Given the description of an element on the screen output the (x, y) to click on. 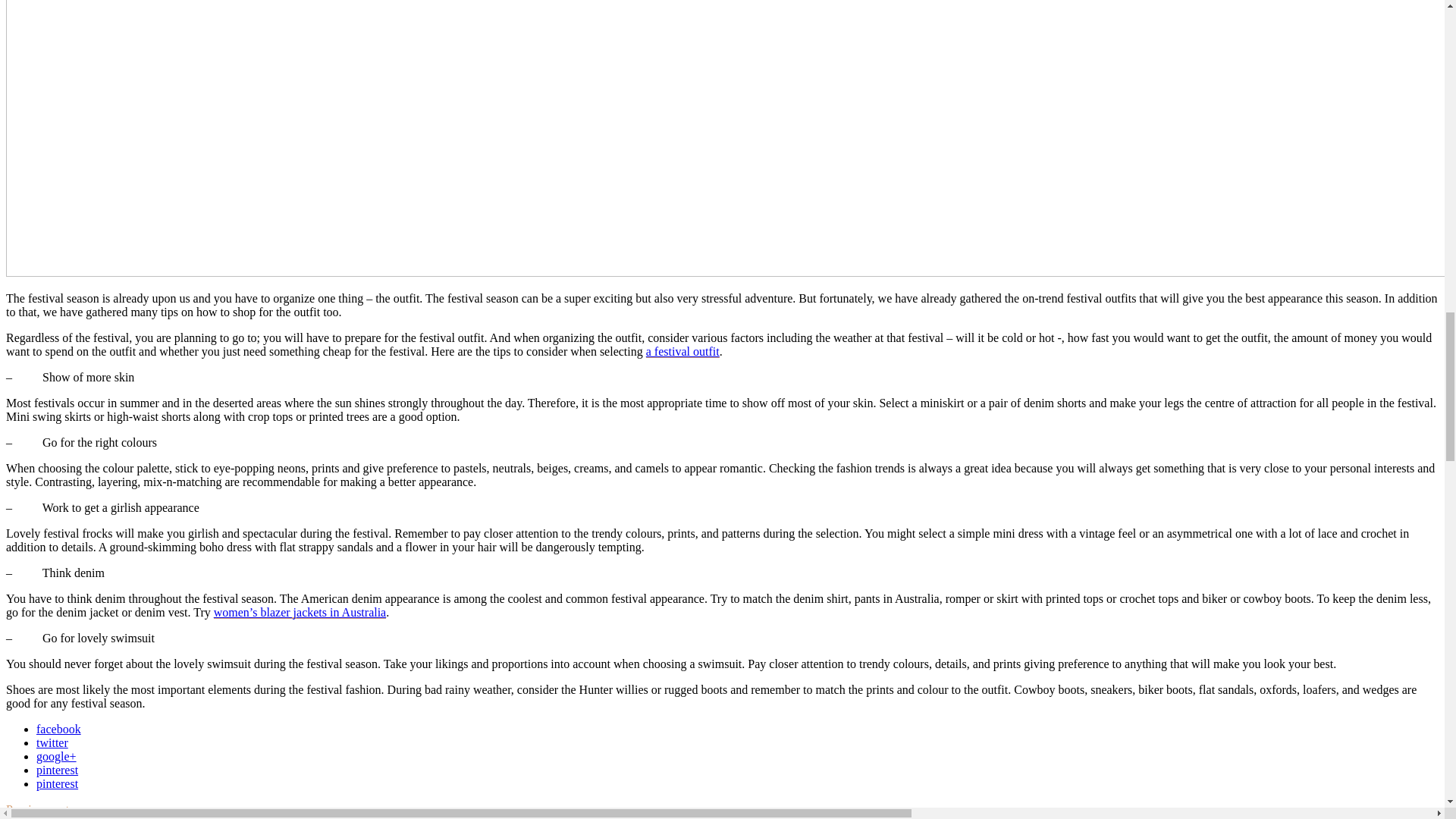
pinterest (57, 769)
twitter (52, 742)
twitter (52, 742)
facebook (58, 728)
a festival outfit (682, 350)
pinterest (57, 783)
facebook (58, 728)
pinterest (57, 783)
